Given the description of an element on the screen output the (x, y) to click on. 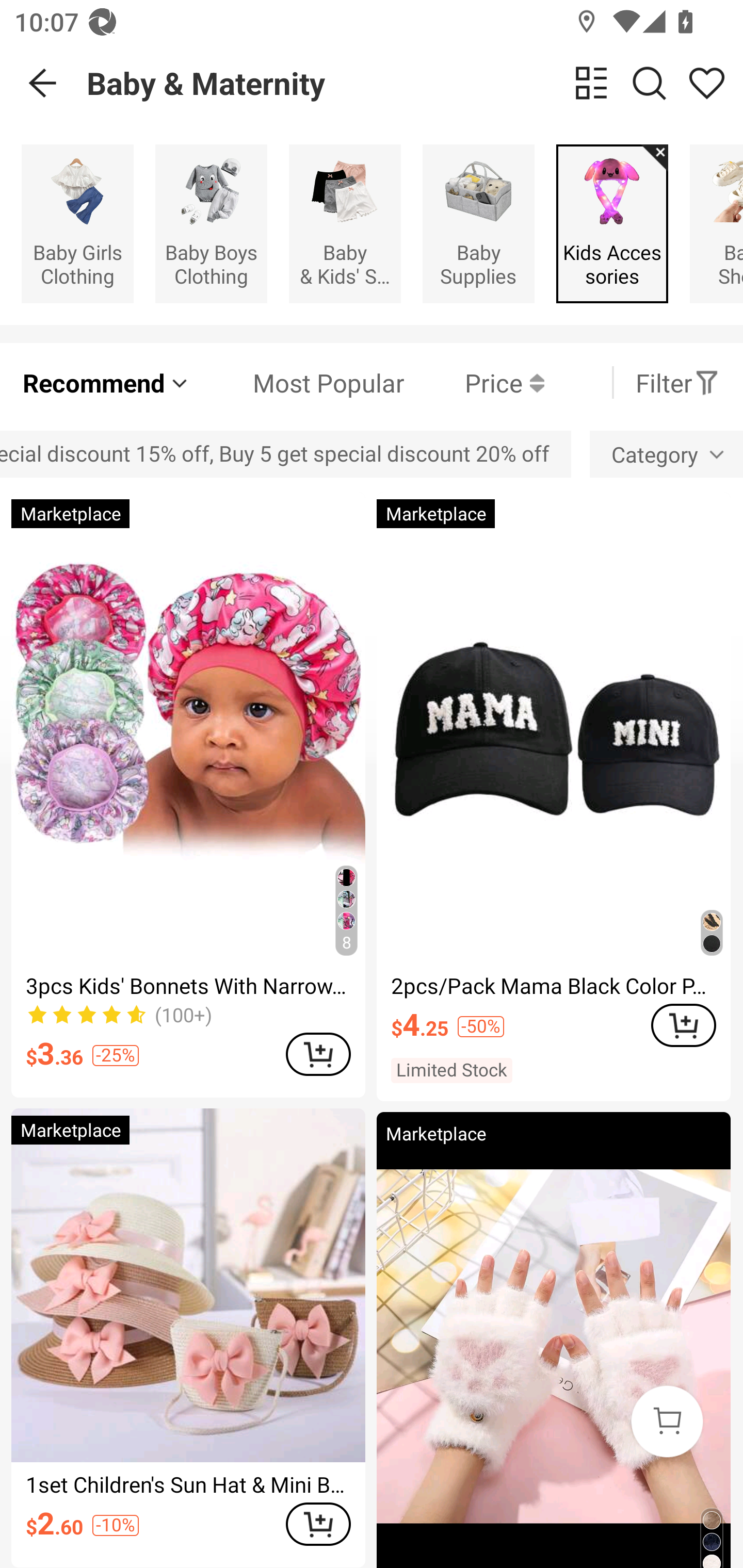
Baby & Maternity change view Search Share (414, 82)
change view (591, 82)
Search (648, 82)
Share (706, 82)
Baby Girls Clothing (77, 223)
Baby Boys Clothing (211, 223)
Baby & Kids' Socks & Tights (345, 223)
Baby Supplies (478, 223)
Kids Accessories (611, 223)
Recommend (106, 382)
Most Popular (297, 382)
Price (474, 382)
Filter (677, 382)
Category (666, 454)
ADD TO CART (683, 1025)
ADD TO CART (318, 1054)
ADD TO CART (318, 1524)
